Given the description of an element on the screen output the (x, y) to click on. 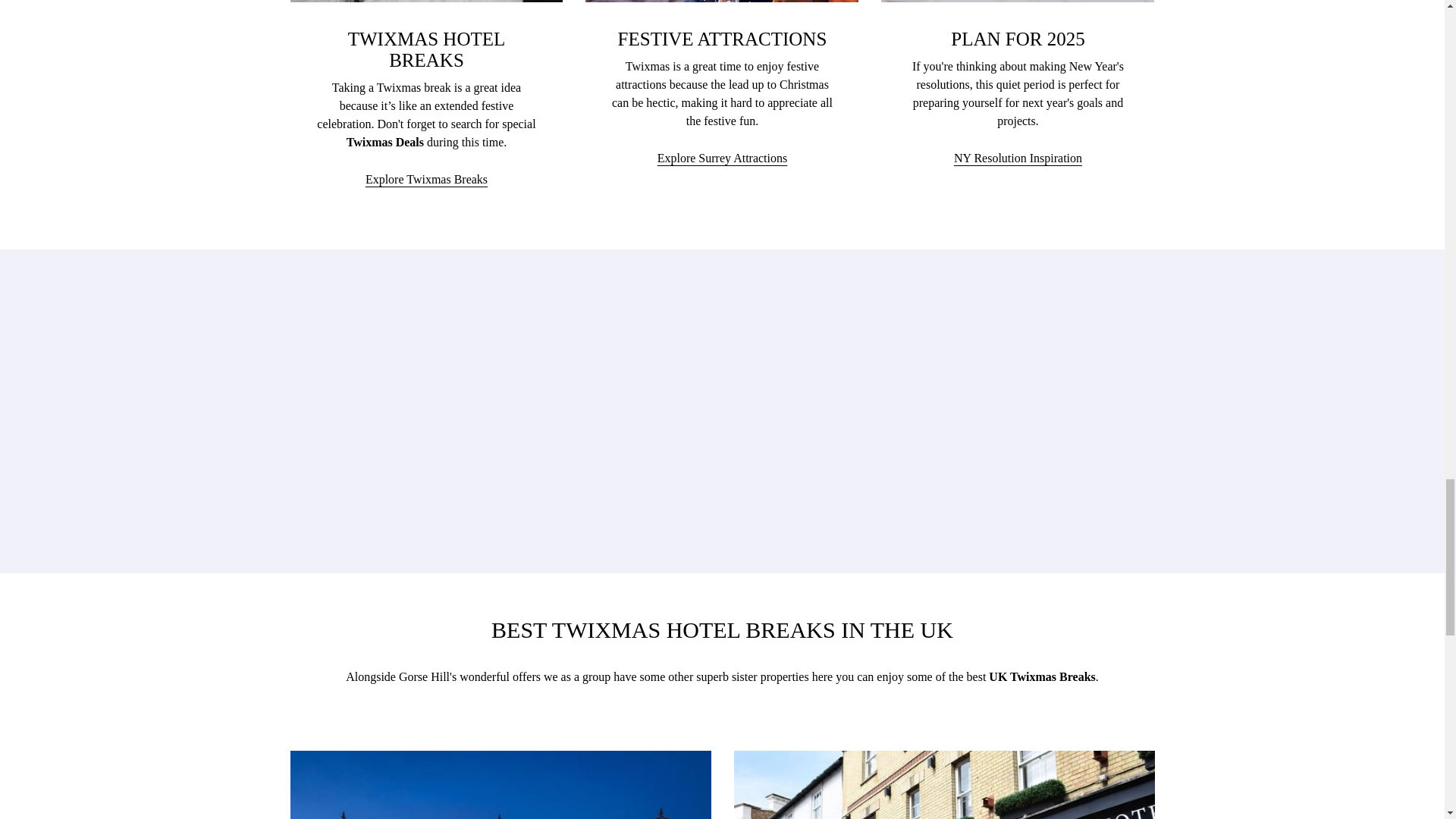
FESTIVE ATTRACTIONS (722, 38)
PLAN FOR 2025 (1017, 158)
TWIXMAS HOTEL BREAKS (1017, 38)
